Given the description of an element on the screen output the (x, y) to click on. 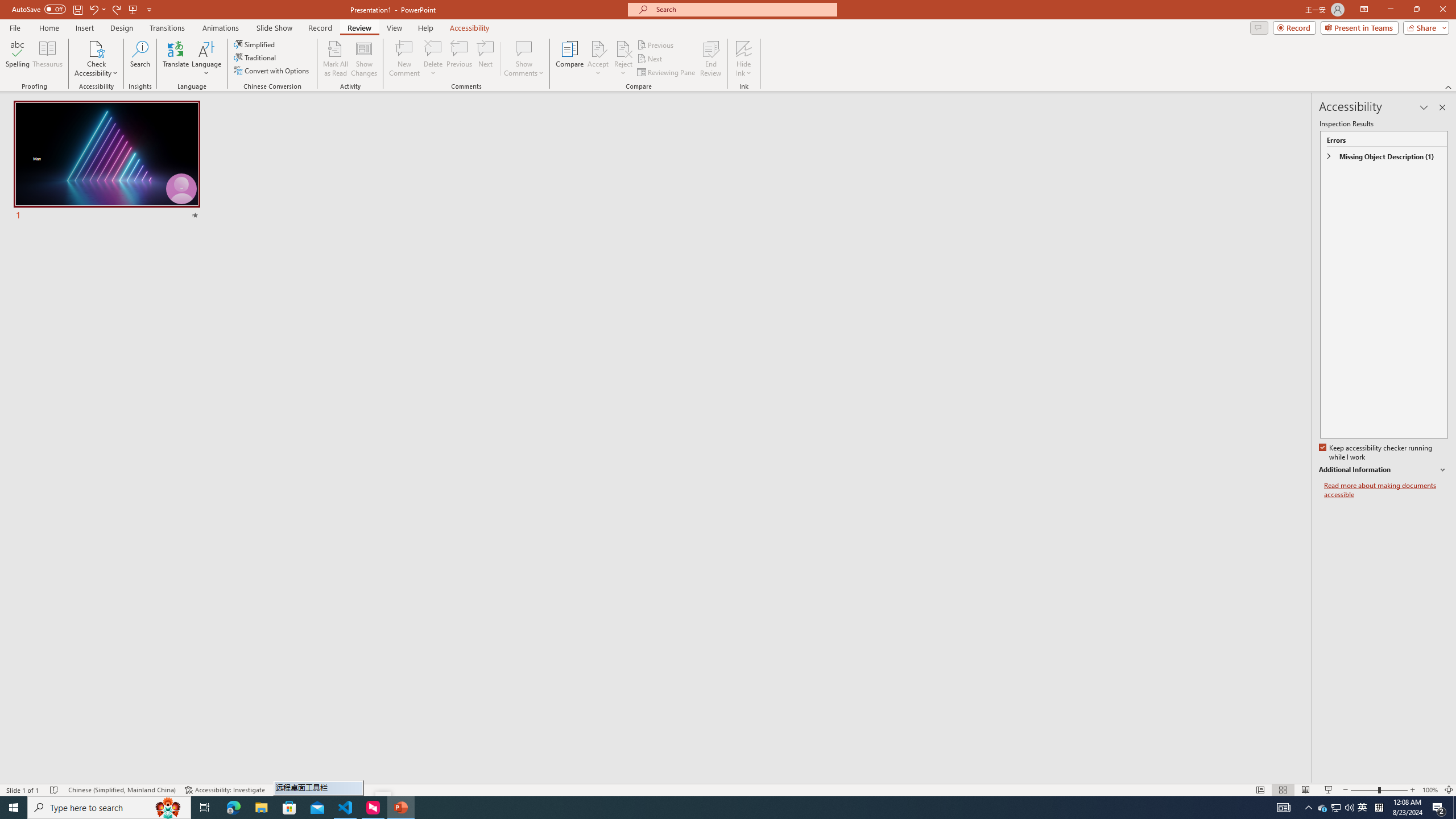
Next (649, 58)
Spelling... (17, 58)
Accept Change (598, 48)
Reject (622, 58)
New Comment (403, 58)
